Given the description of an element on the screen output the (x, y) to click on. 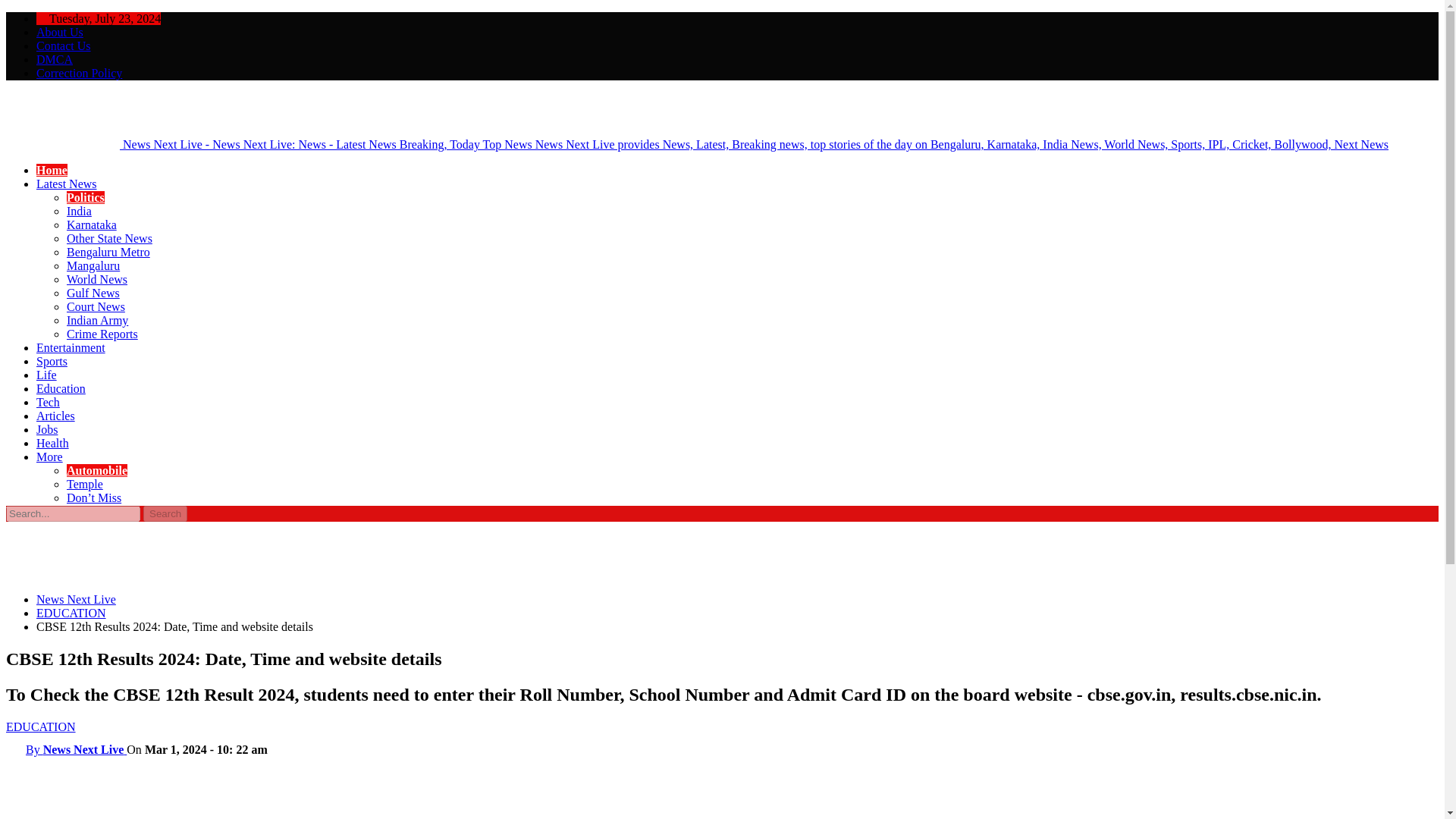
Bengaluru Metro (107, 251)
Tech (47, 401)
Health (52, 442)
Search (164, 513)
India (78, 210)
Education (60, 388)
EDUCATION (40, 726)
About Us (59, 31)
Contact Us (63, 45)
Search (164, 513)
Crime Reports (102, 333)
Entertainment (70, 347)
Temple (84, 483)
Mangaluru (92, 265)
